Given the description of an element on the screen output the (x, y) to click on. 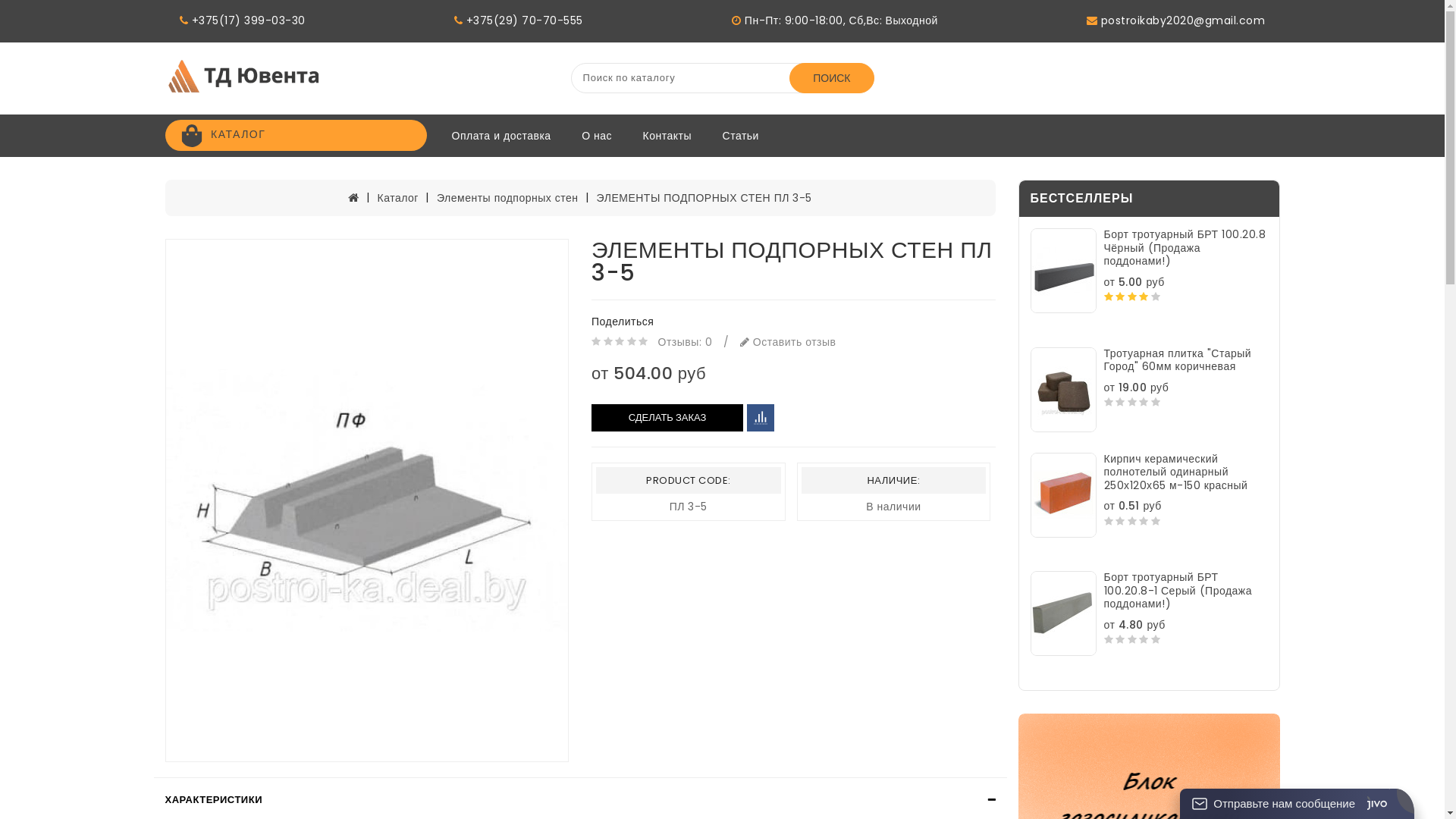
+375(29) 70-70-555 Element type: text (518, 21)
+375(17) 399-03-30 Element type: text (242, 21)
postroikaby2020@gmail.com Element type: text (1176, 21)
